Given the description of an element on the screen output the (x, y) to click on. 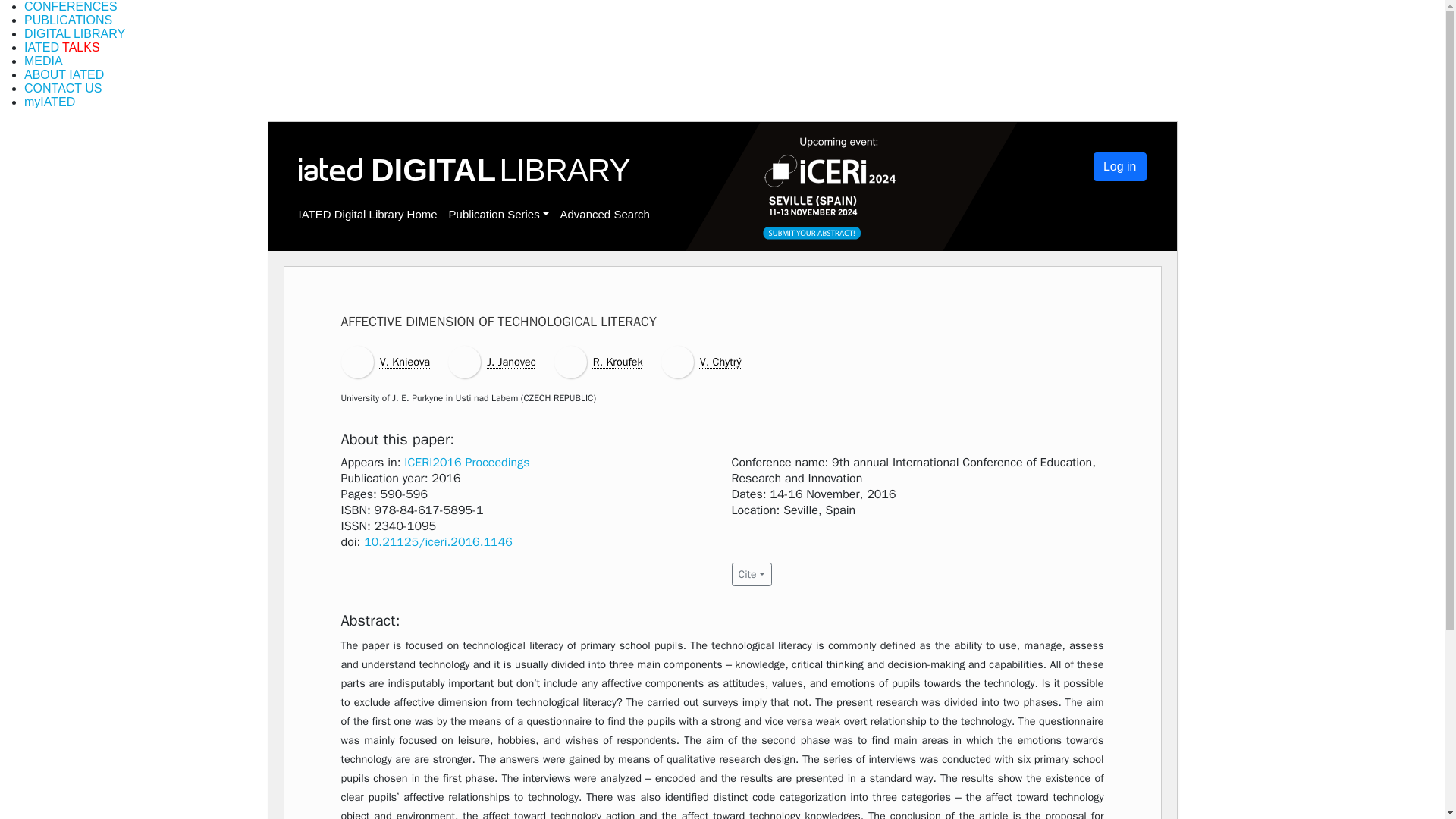
Cite (750, 574)
ICERI2016 Proceedings (466, 462)
R. Kroufek (617, 361)
ABOUT IATED (63, 74)
MEDIA (43, 60)
myIATED (49, 101)
J. Janovec (510, 361)
doi (438, 541)
CONTACT US (62, 88)
PUBLICATIONS (68, 19)
